Given the description of an element on the screen output the (x, y) to click on. 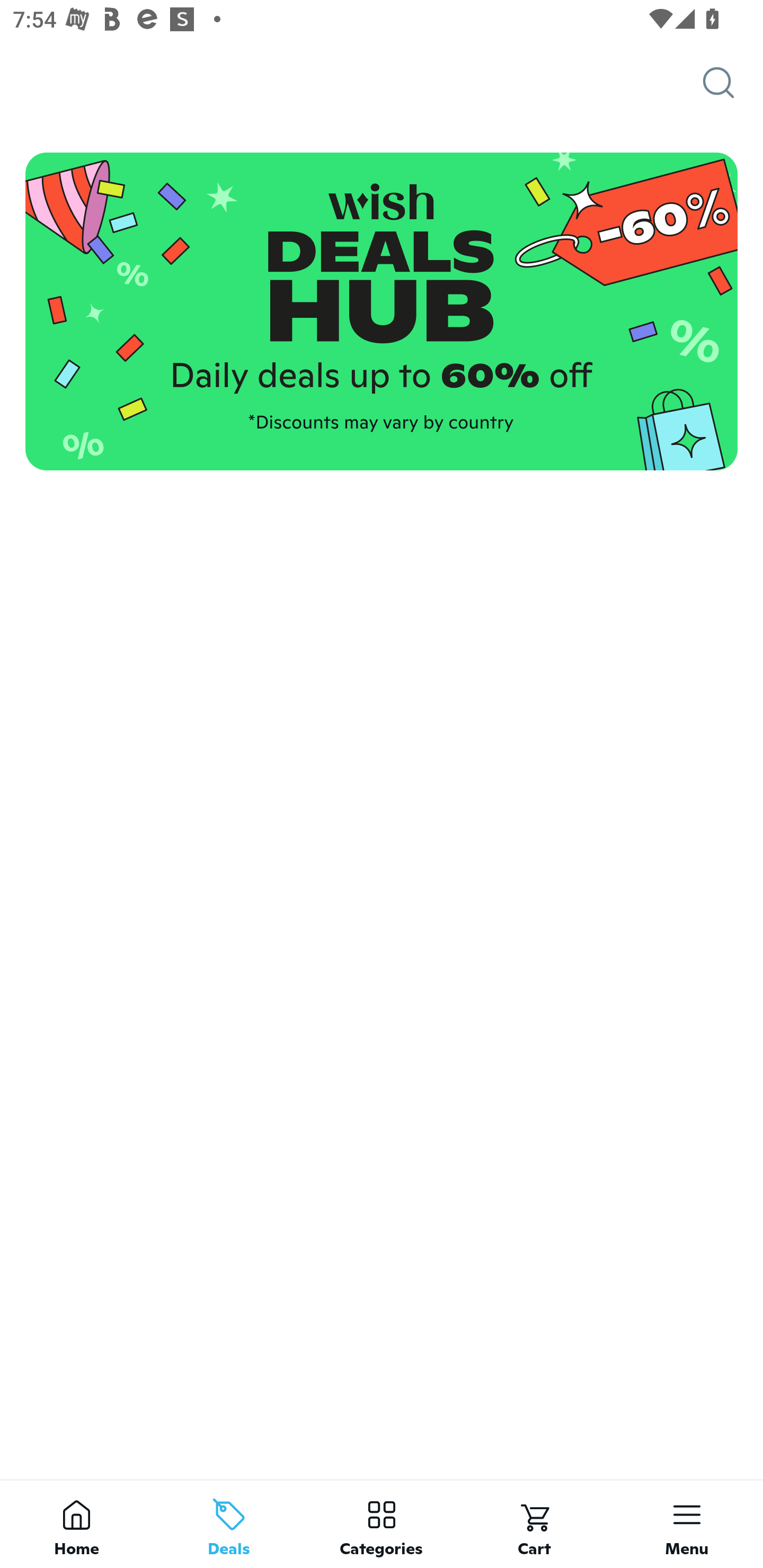
Search (732, 82)
Home (76, 1523)
Deals (228, 1523)
Categories (381, 1523)
Cart (533, 1523)
Menu (686, 1523)
